Given the description of an element on the screen output the (x, y) to click on. 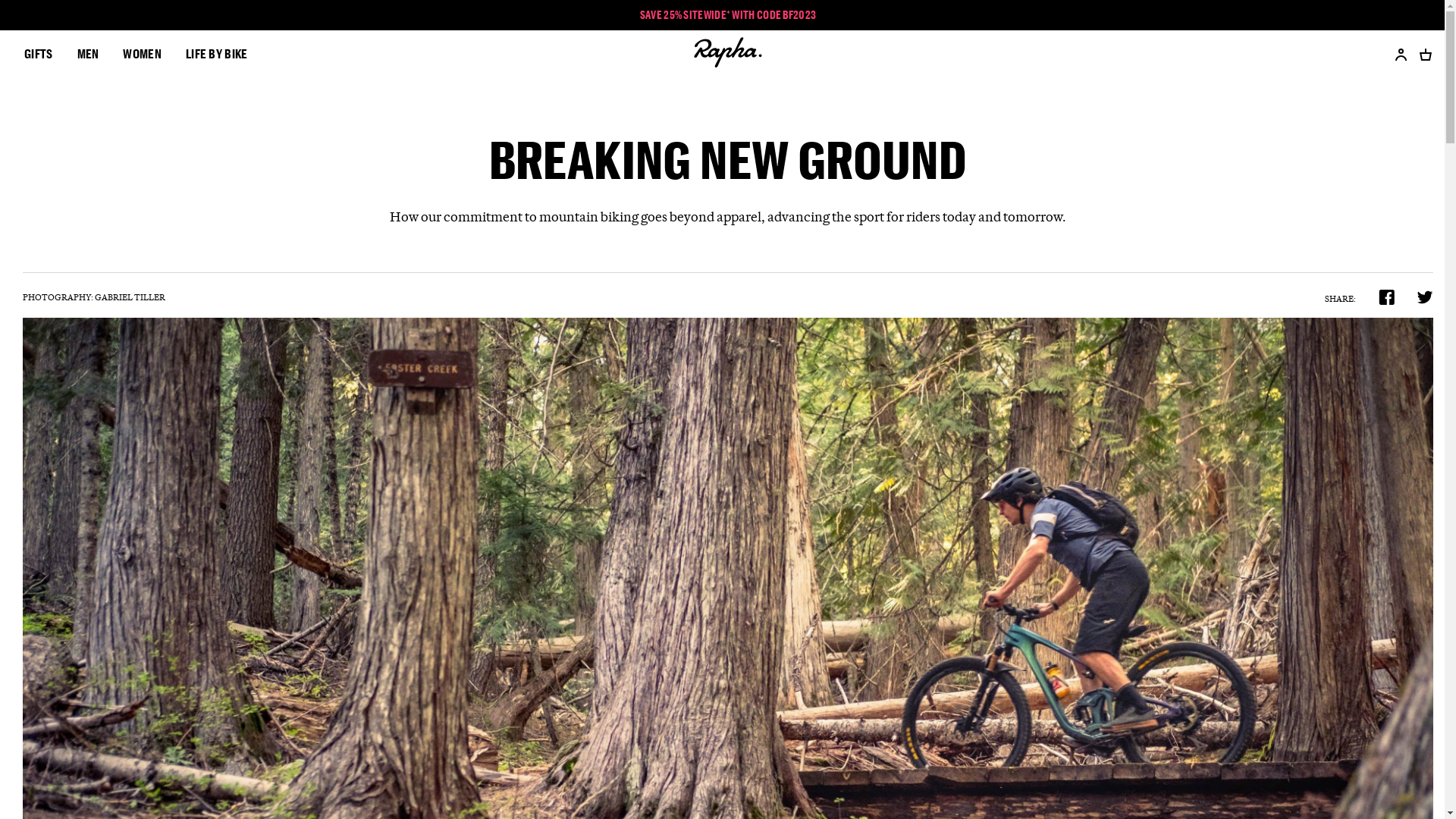
MEN Element type: text (88, 53)
Account Element type: hover (1395, 54)
Rapha Element type: text (727, 54)
SAVE 25% SITEWIDE* WITH CODE BF2023 Element type: text (728, 14)
Basket Element type: hover (1419, 54)
GIFTS Element type: text (38, 53)
LIFE BY BIKE Element type: text (216, 53)
WOMEN Element type: text (141, 53)
